Given the description of an element on the screen output the (x, y) to click on. 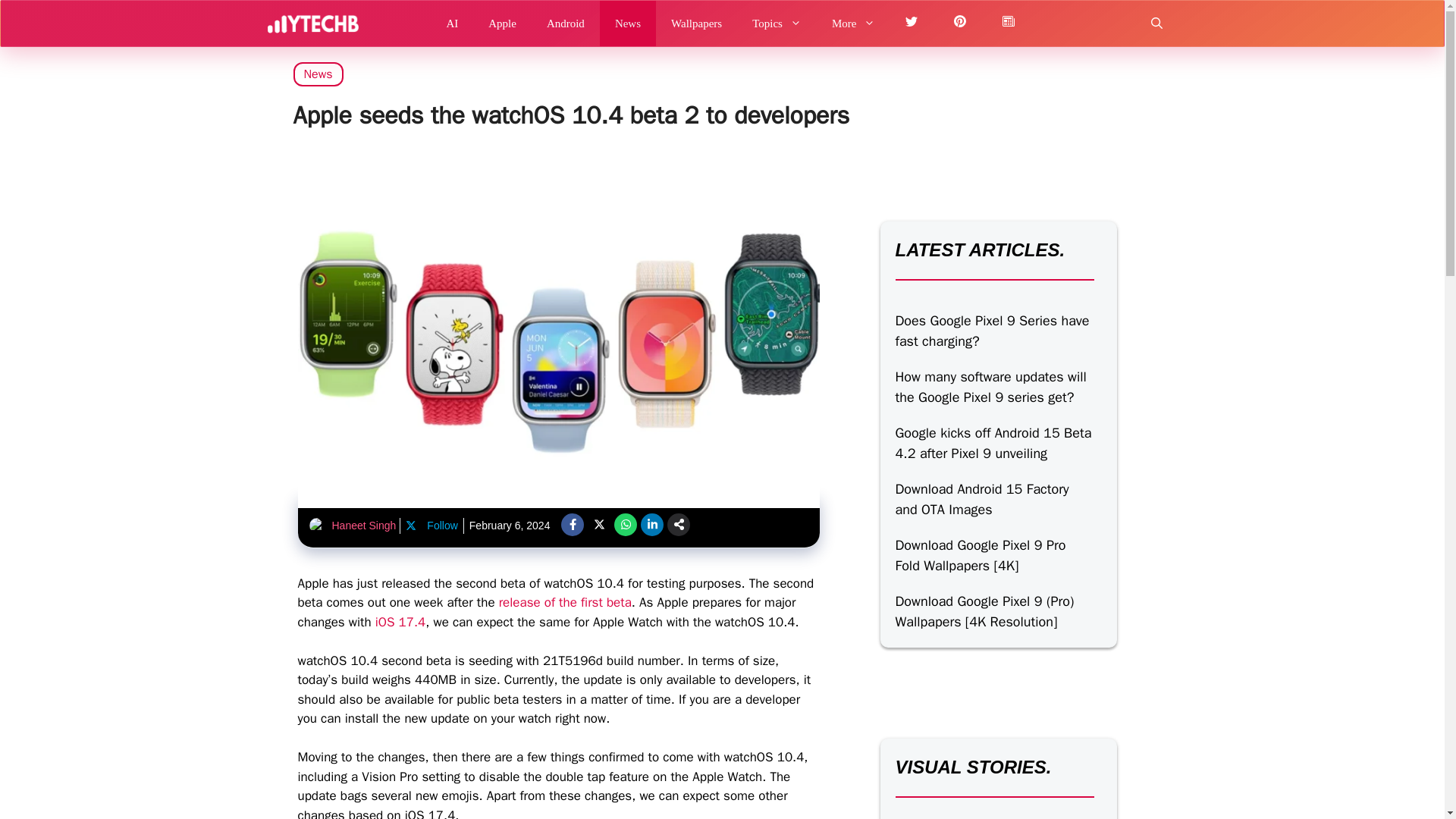
Topics (776, 22)
News (627, 22)
AI (451, 22)
Android (565, 22)
More (853, 22)
Haneet Singh (363, 525)
Wallpapers (696, 22)
News (316, 73)
Follow (430, 525)
YTECHB (312, 22)
